Given the description of an element on the screen output the (x, y) to click on. 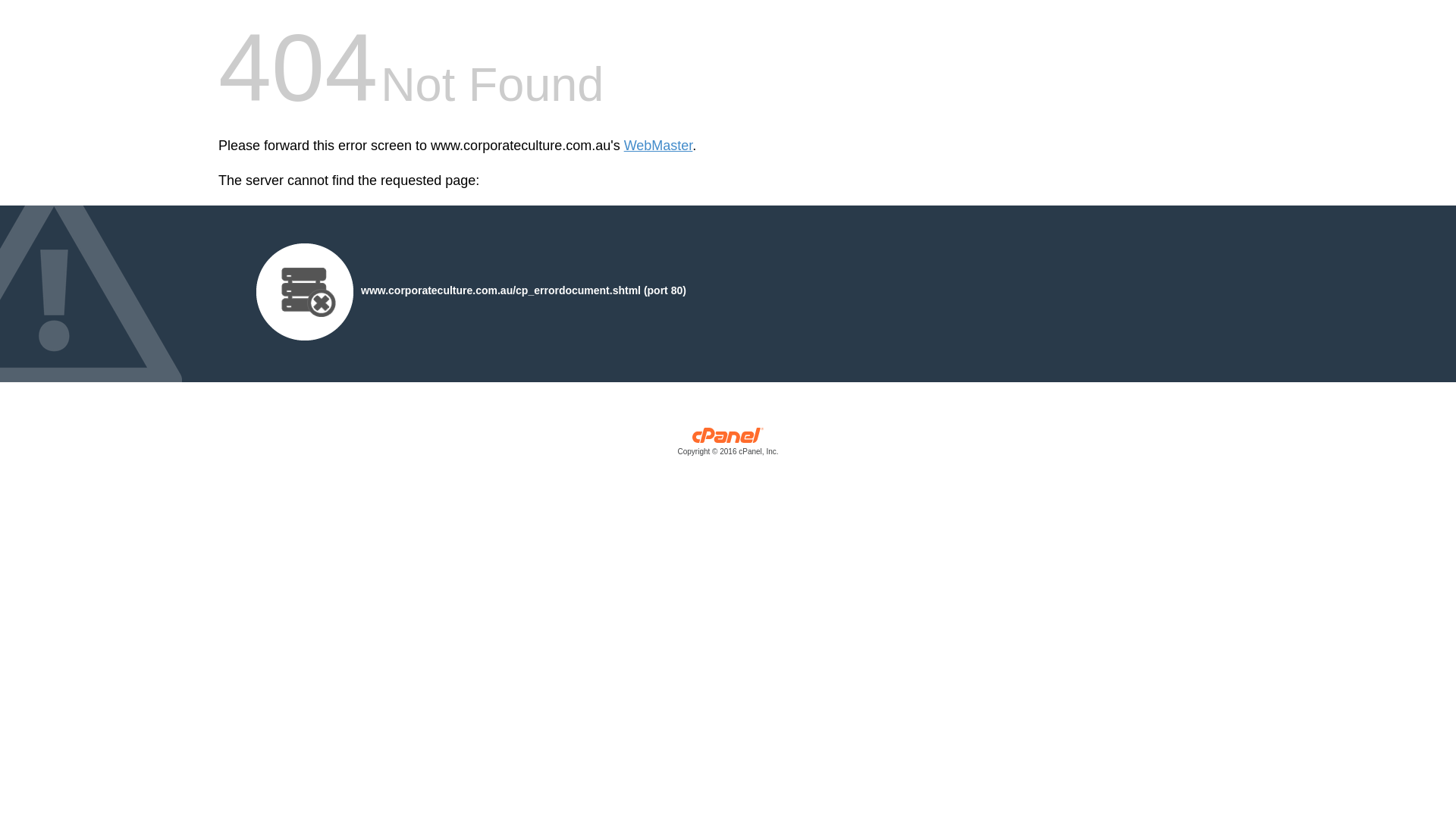
WebMaster Element type: text (658, 145)
